Given the description of an element on the screen output the (x, y) to click on. 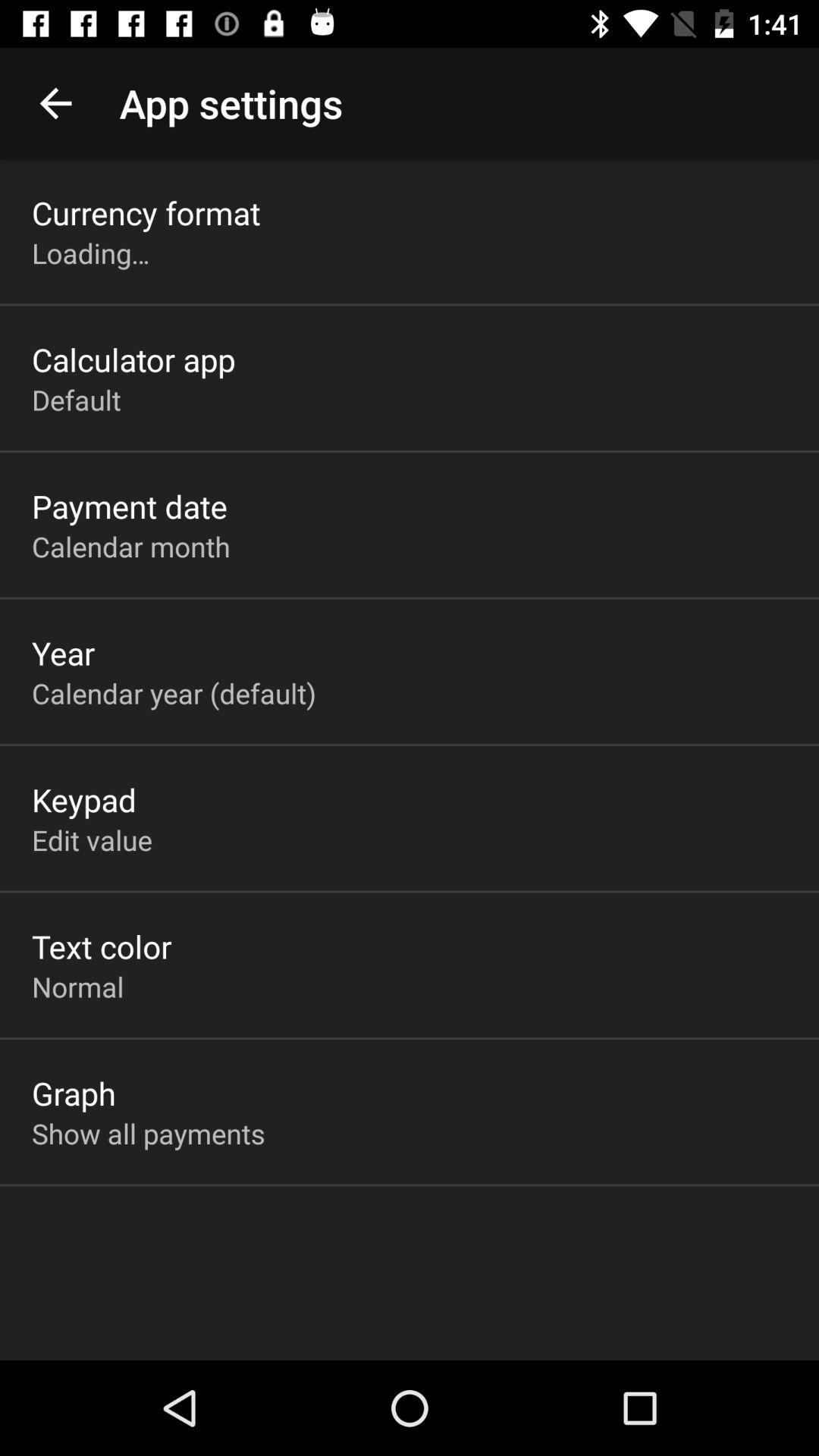
open the icon above the calendar month icon (129, 505)
